Given the description of an element on the screen output the (x, y) to click on. 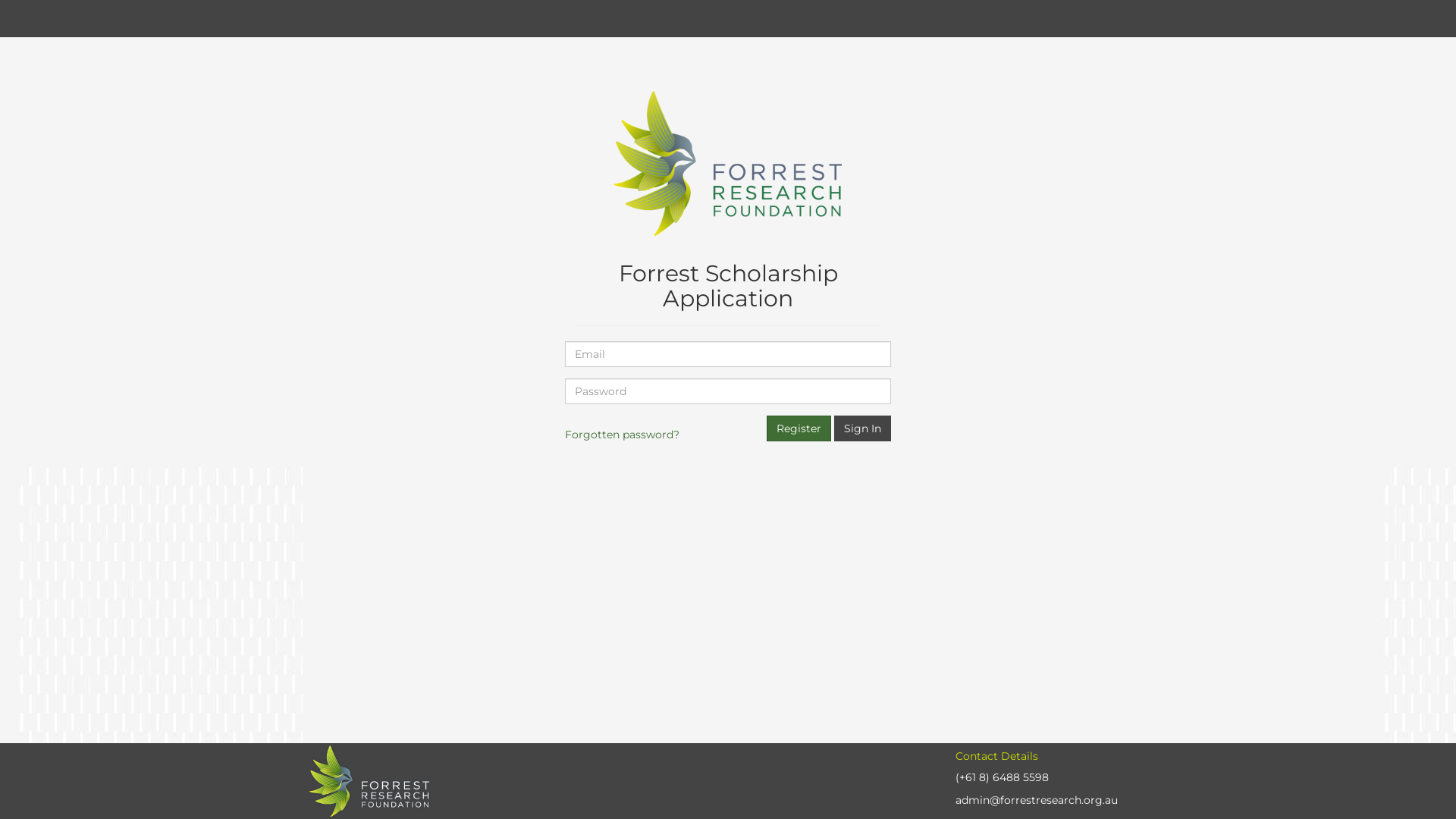
Register Element type: text (798, 428)
Forgotten password? Element type: text (621, 434)
Sign In Element type: text (862, 428)
Forrest Element type: hover (727, 164)
